Given the description of an element on the screen output the (x, y) to click on. 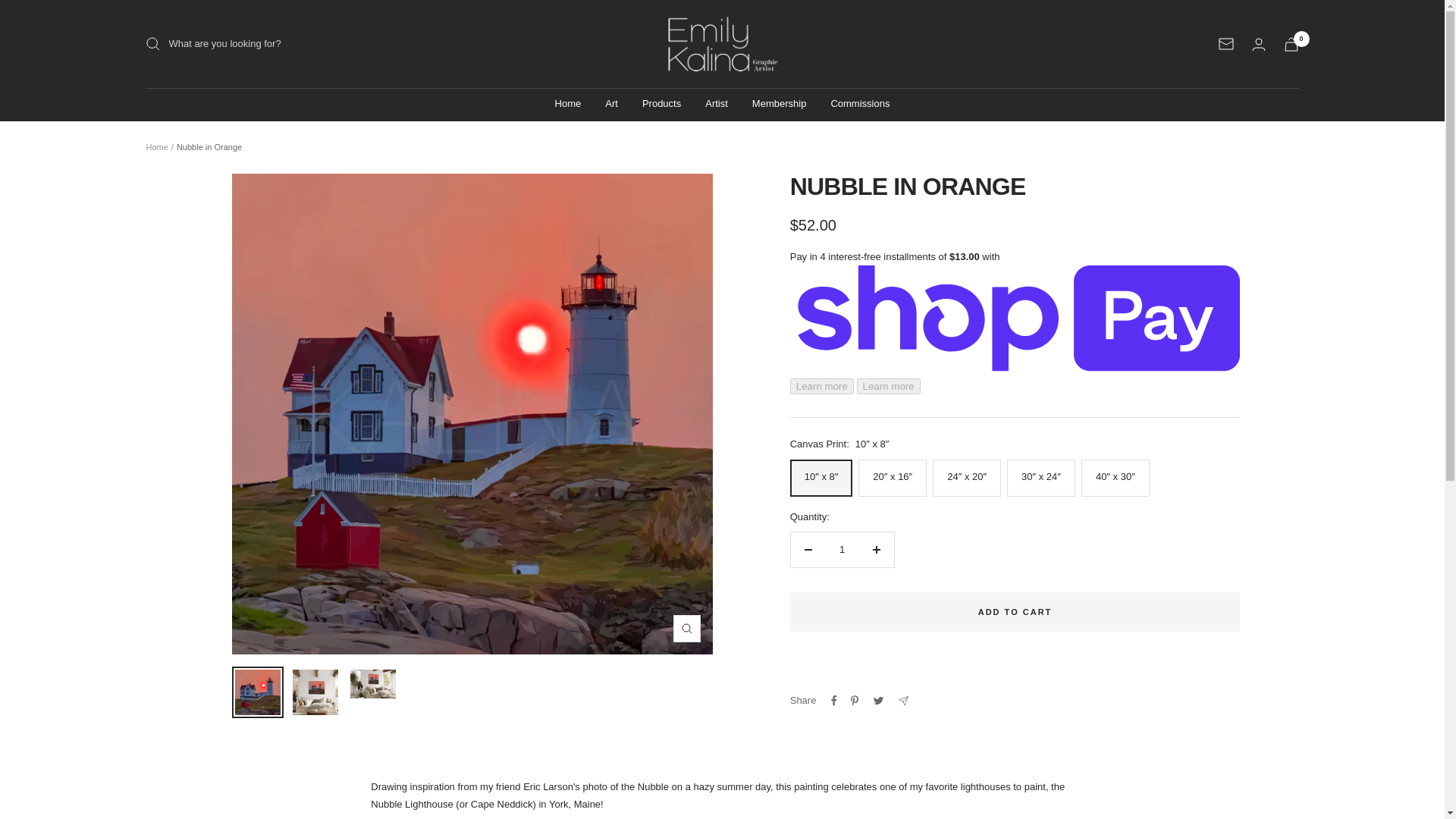
1 (842, 549)
Membership (779, 104)
Commissions (859, 104)
ADD TO CART (1015, 611)
Zoom (686, 628)
Home (567, 104)
Home (156, 146)
Increase quantity (876, 549)
Emily Kalina (721, 43)
0 (1290, 43)
